Given the description of an element on the screen output the (x, y) to click on. 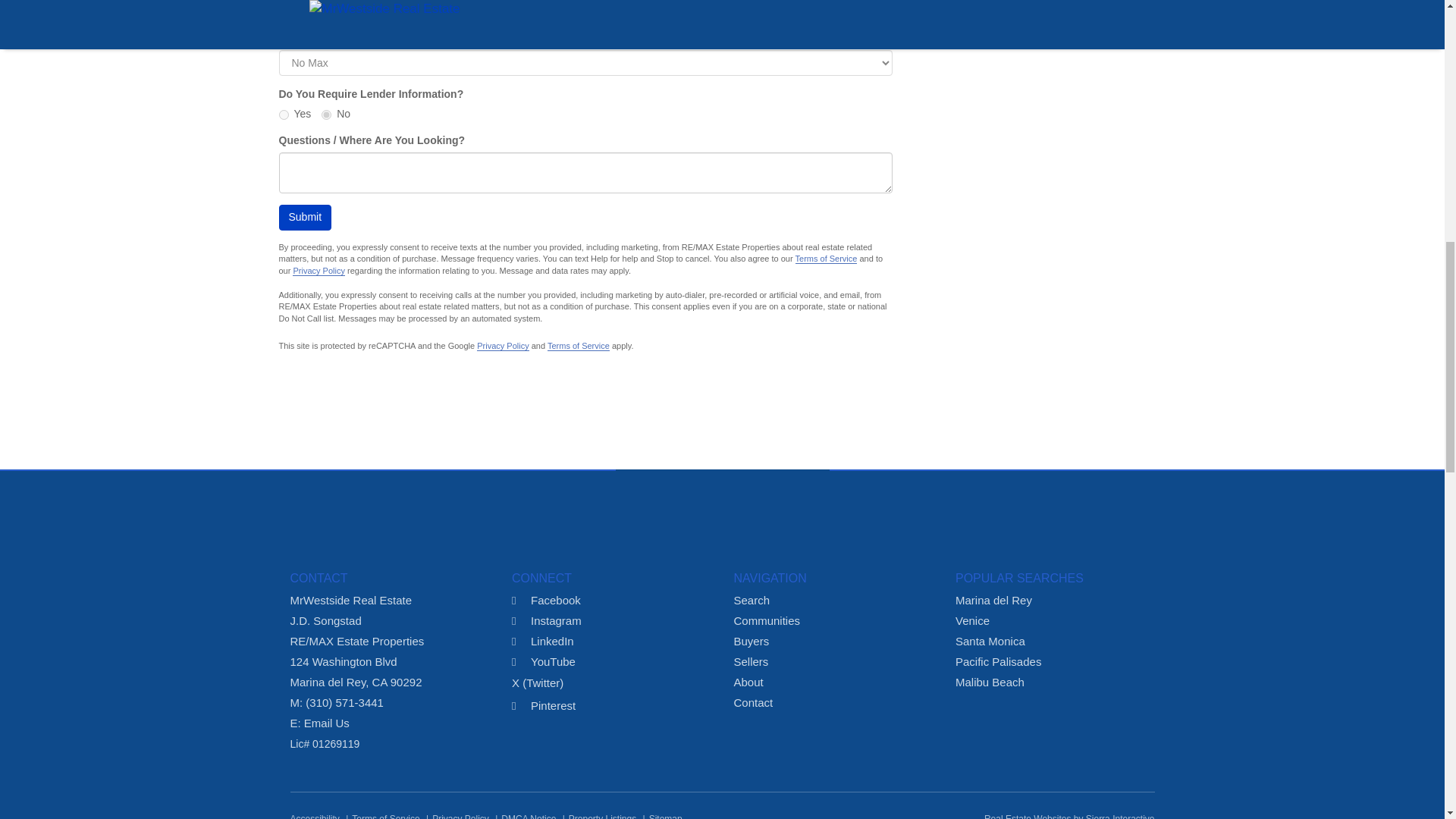
No (326, 114)
Yes (283, 114)
